Given the description of an element on the screen output the (x, y) to click on. 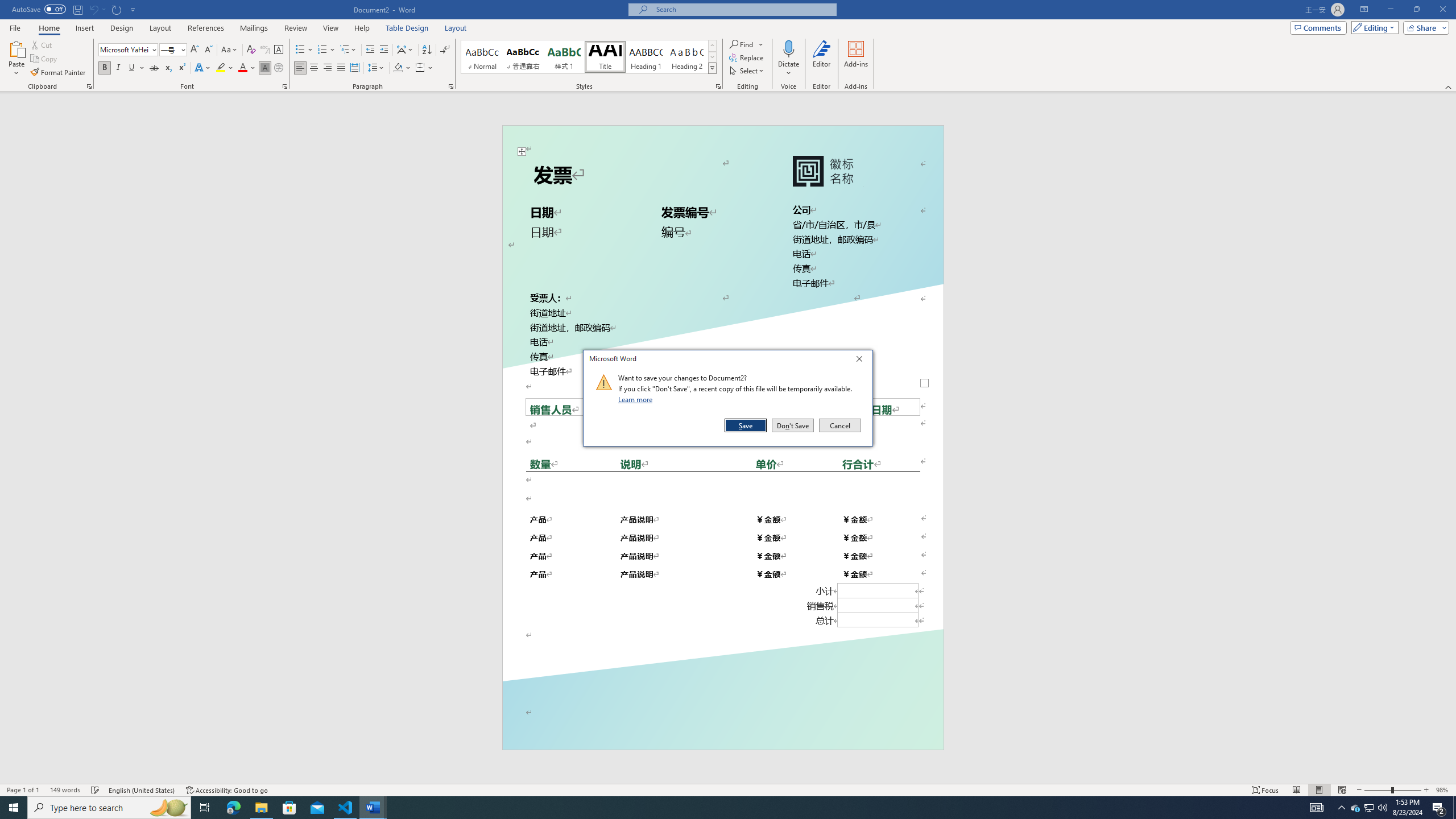
First Page Header -Section 1- (722, 140)
Cancel (839, 425)
Font Color RGB(255, 0, 0) (241, 67)
Don't Save (792, 425)
